Given the description of an element on the screen output the (x, y) to click on. 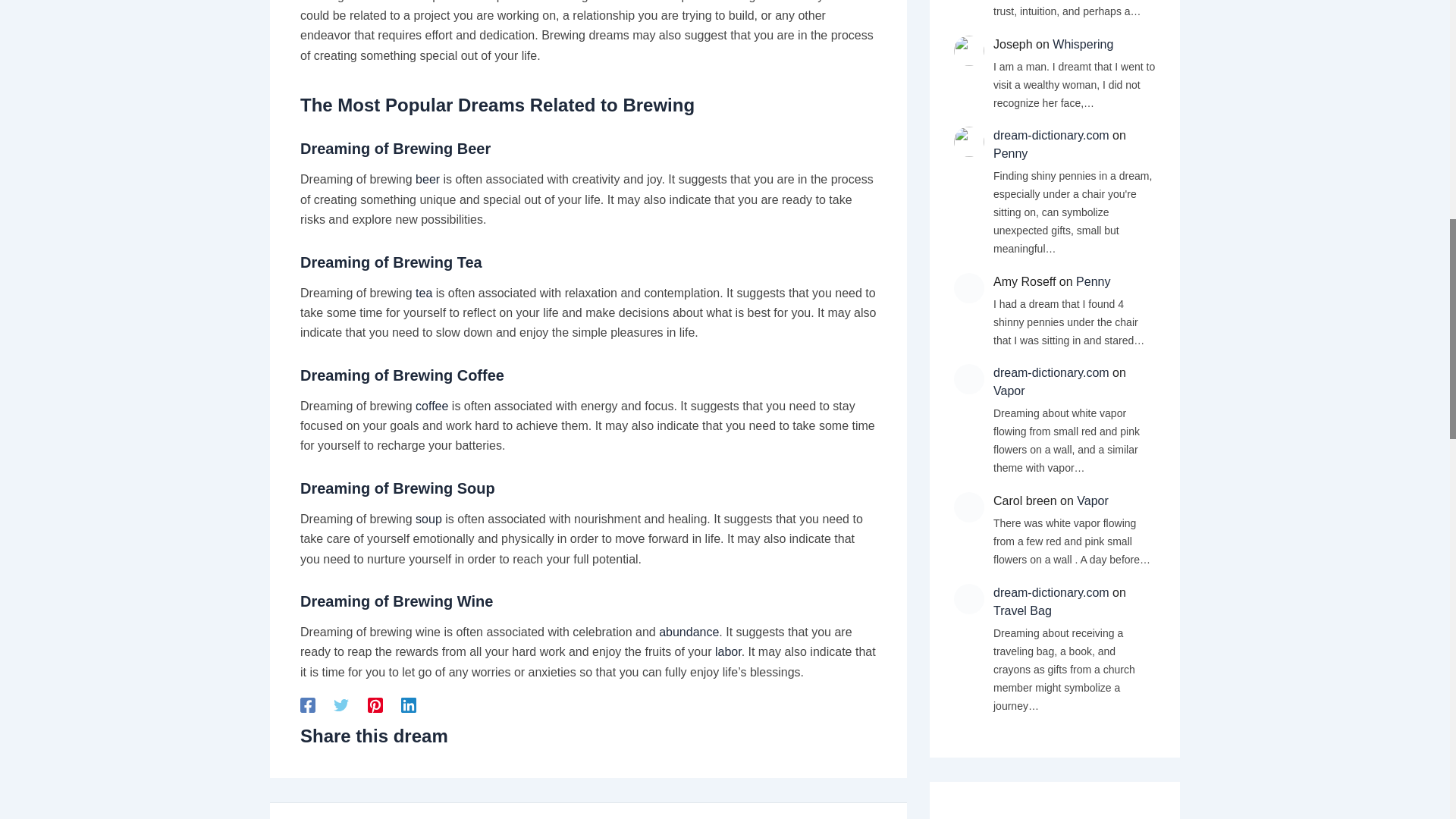
abundance (689, 631)
soup (428, 518)
coffee (431, 405)
tea (423, 292)
labor (727, 651)
beer (426, 178)
